Given the description of an element on the screen output the (x, y) to click on. 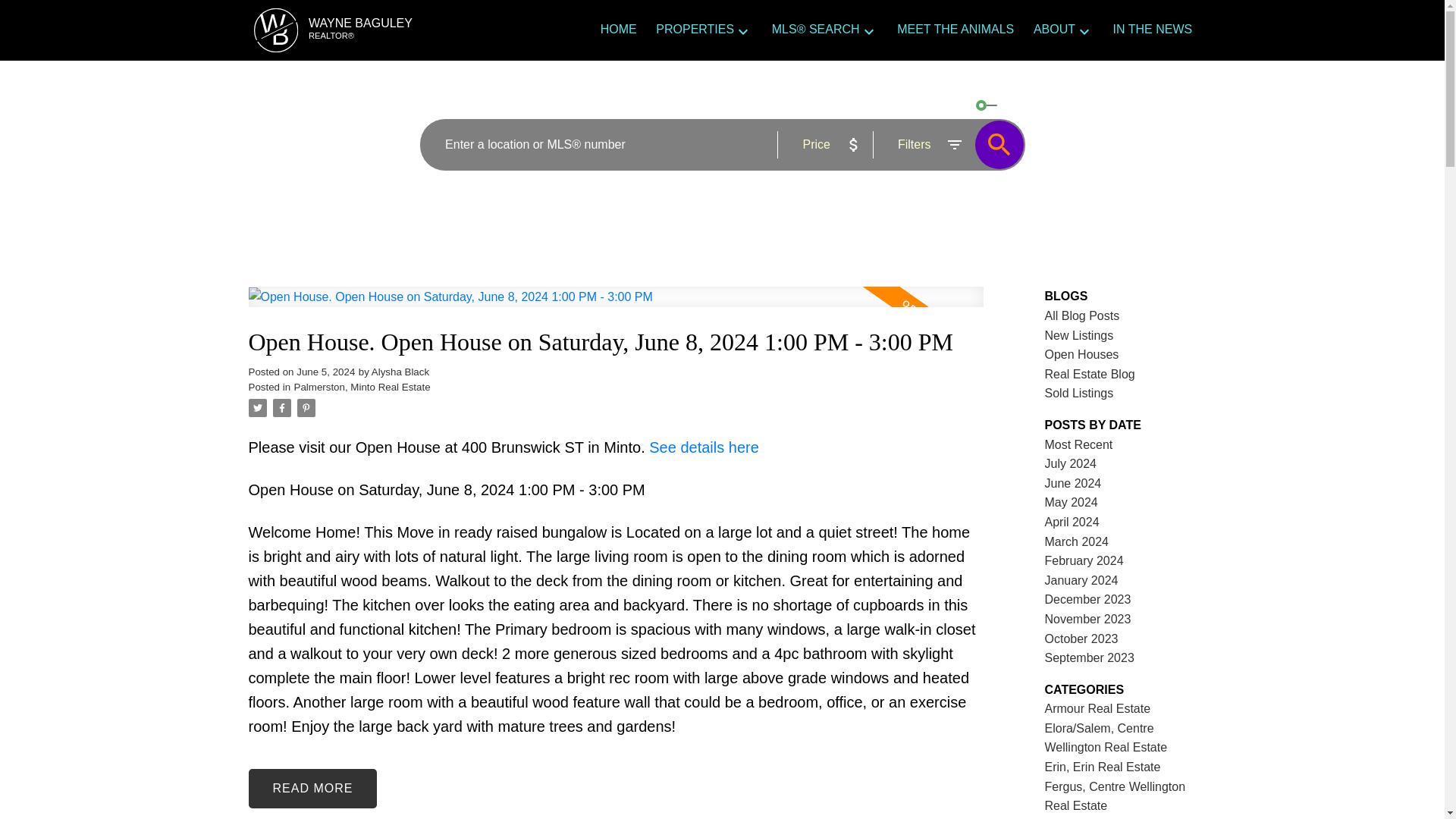
ABOUT (1054, 30)
HOME (618, 30)
Read full post (616, 305)
READ (312, 788)
MEET THE ANIMALS (954, 30)
See details here (703, 446)
PROPERTIES (694, 30)
Palmerston, Minto Real Estate (362, 387)
IN THE NEWS (1152, 30)
